Given the description of an element on the screen output the (x, y) to click on. 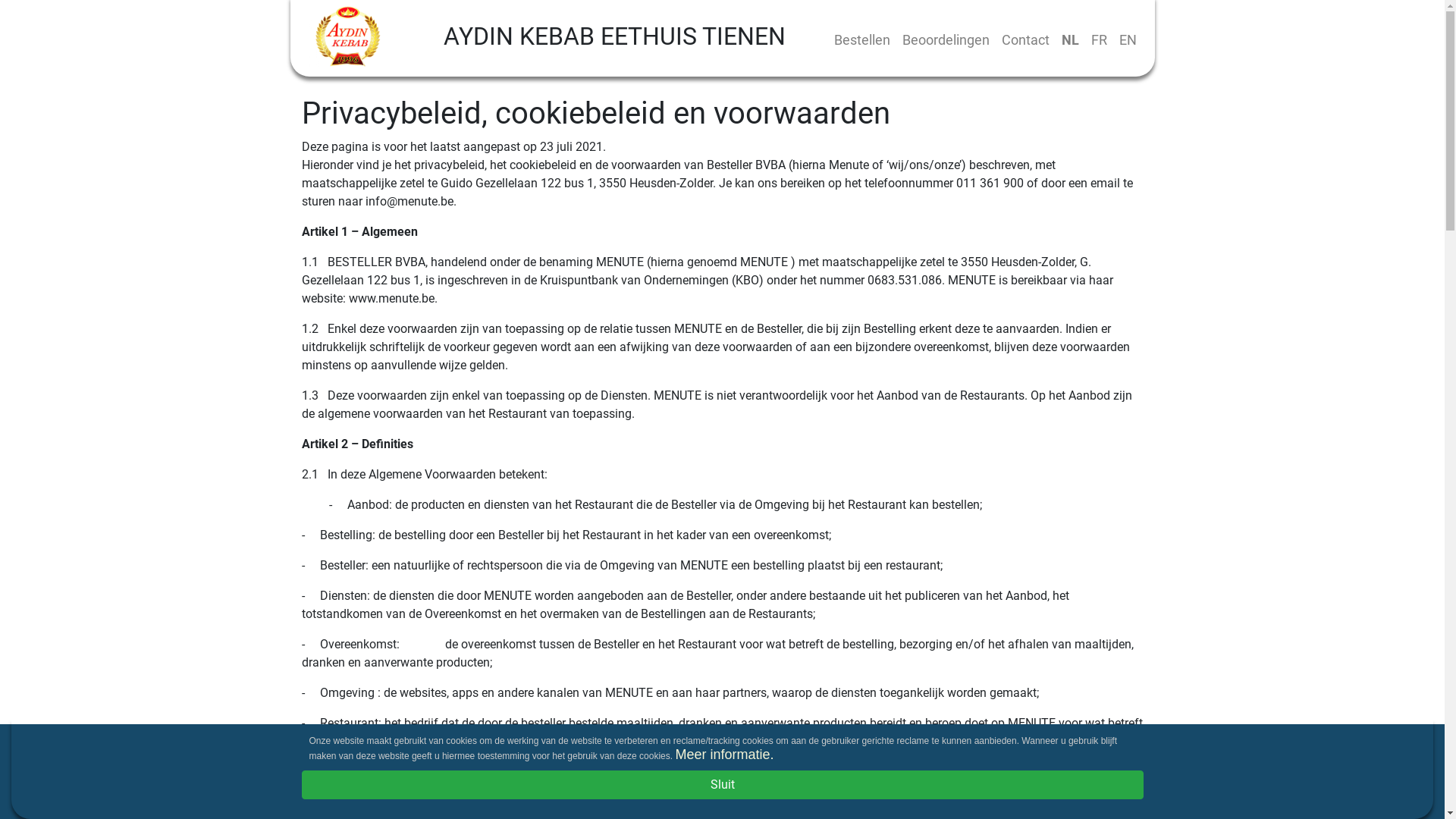
Bestellen Element type: text (862, 39)
Beoordelingen Element type: text (945, 39)
Contact Element type: text (1024, 39)
NL Element type: text (1070, 39)
EN Element type: text (1127, 39)
Meer informatie. Element type: text (723, 754)
Sluit Element type: text (722, 784)
FR Element type: text (1098, 39)
